Given the description of an element on the screen output the (x, y) to click on. 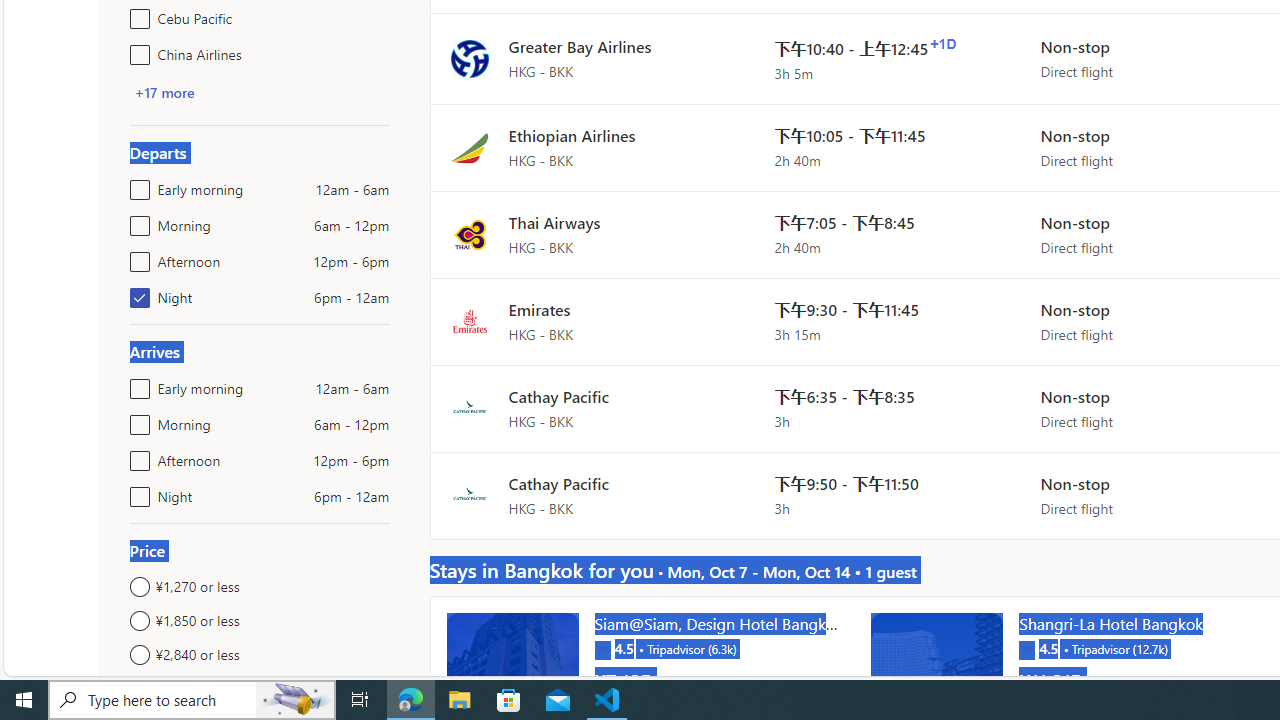
+17 more (164, 92)
Flight logo (469, 494)
Night6pm - 12am (136, 492)
Afternoon12pm - 6pm (136, 456)
Tripadvisor (1026, 648)
Any price (259, 688)
Early morning12am - 6am (136, 384)
Cebu Pacific (136, 14)
China Airlines (136, 50)
Morning6am - 12pm (136, 420)
